Given the description of an element on the screen output the (x, y) to click on. 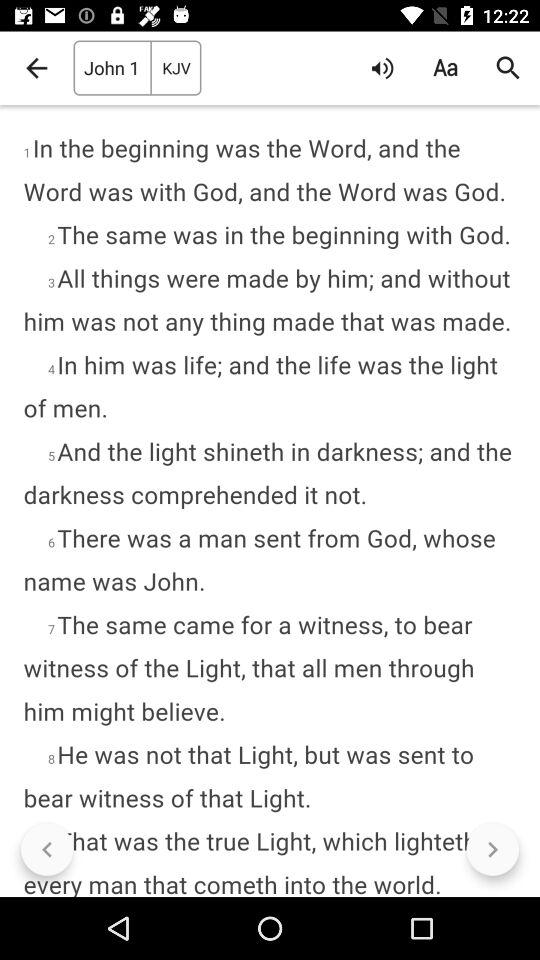
click item at the bottom left corner (47, 849)
